Given the description of an element on the screen output the (x, y) to click on. 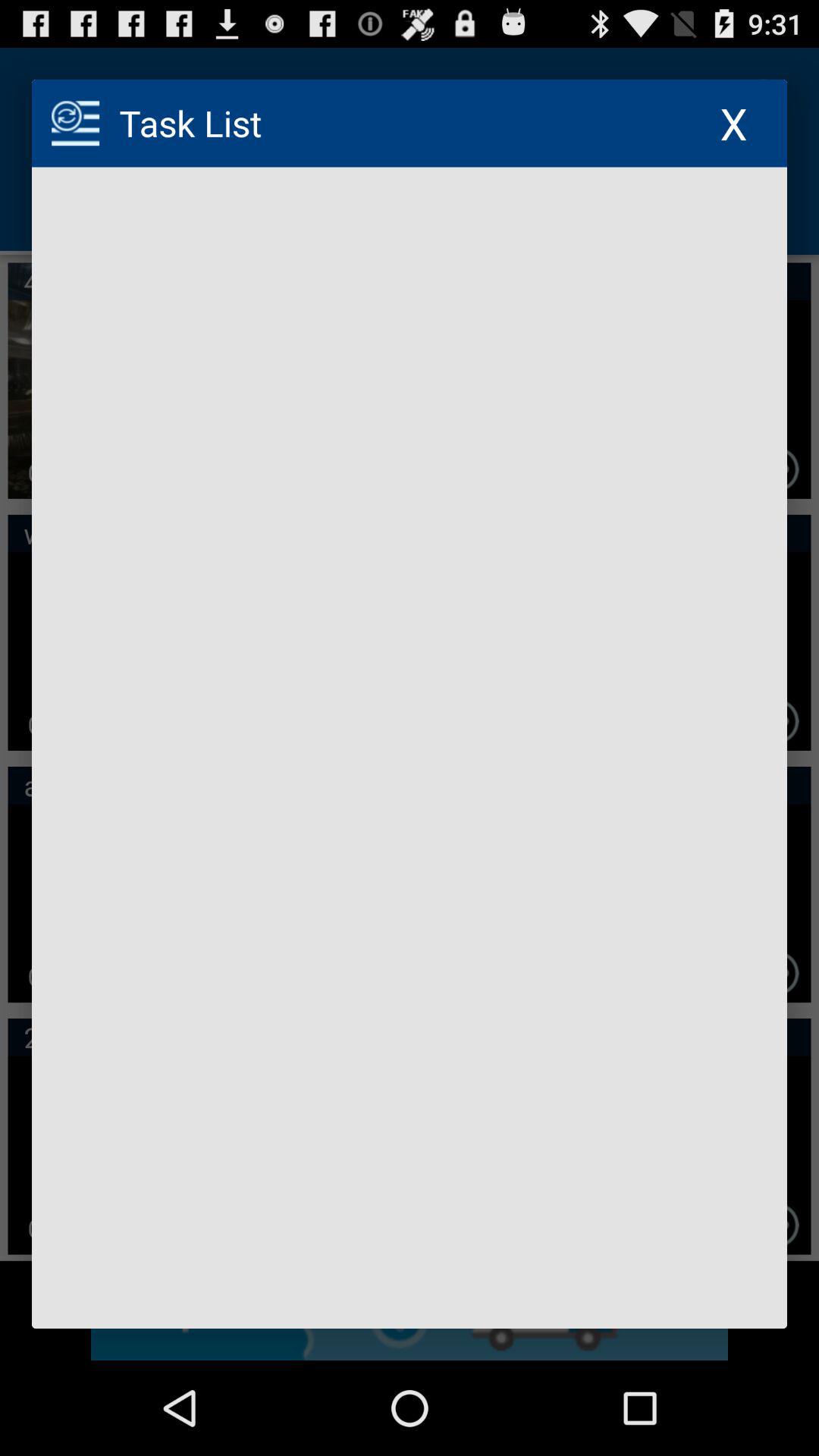
select the x icon (733, 123)
